Given the description of an element on the screen output the (x, y) to click on. 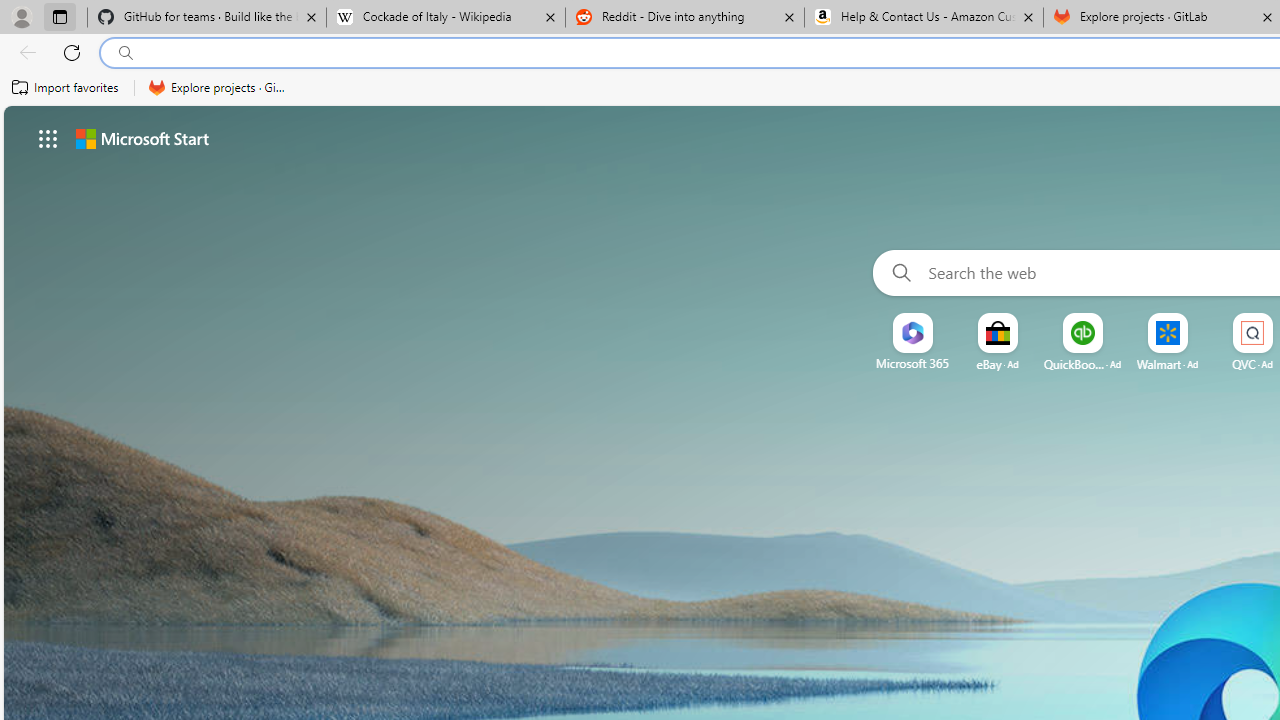
Microsoft start (142, 138)
Reddit - Dive into anything (684, 17)
Help & Contact Us - Amazon Customer Service (924, 17)
